Given the description of an element on the screen output the (x, y) to click on. 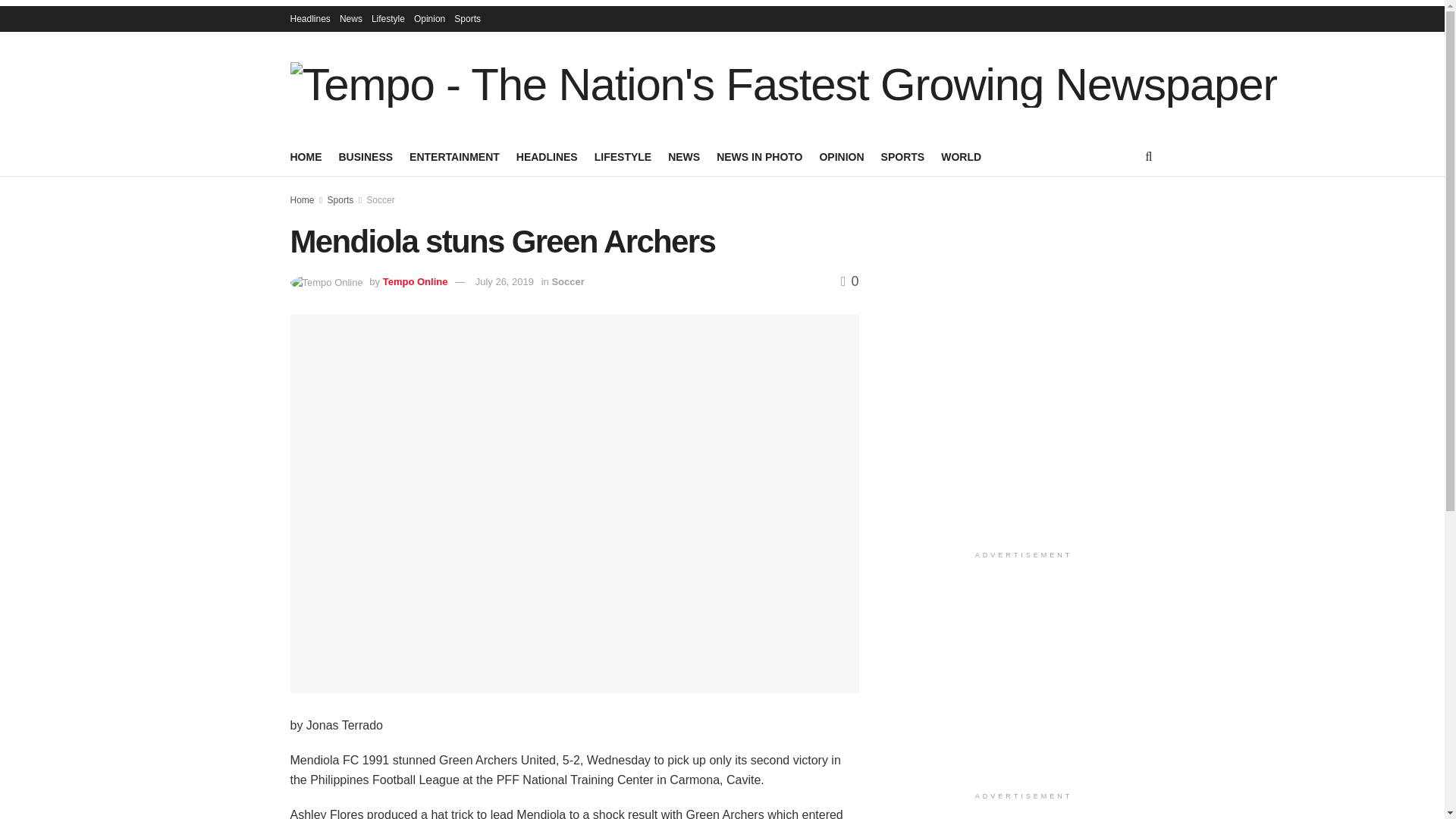
Lifestyle (387, 18)
BUSINESS (365, 156)
NEWS (684, 156)
LIFESTYLE (622, 156)
HOME (305, 156)
News (350, 18)
Headlines (309, 18)
HEADLINES (547, 156)
Opinion (429, 18)
ENTERTAINMENT (454, 156)
Sports (467, 18)
